Given the description of an element on the screen output the (x, y) to click on. 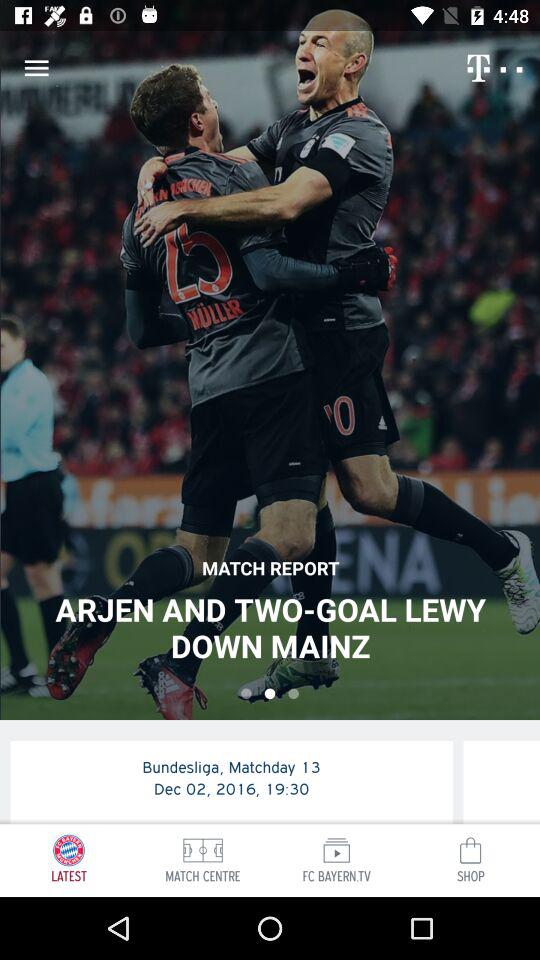
click on the match centre (203, 850)
select the icon which is above shop (470, 850)
select the icon which is above latest on a page (68, 850)
